Given the description of an element on the screen output the (x, y) to click on. 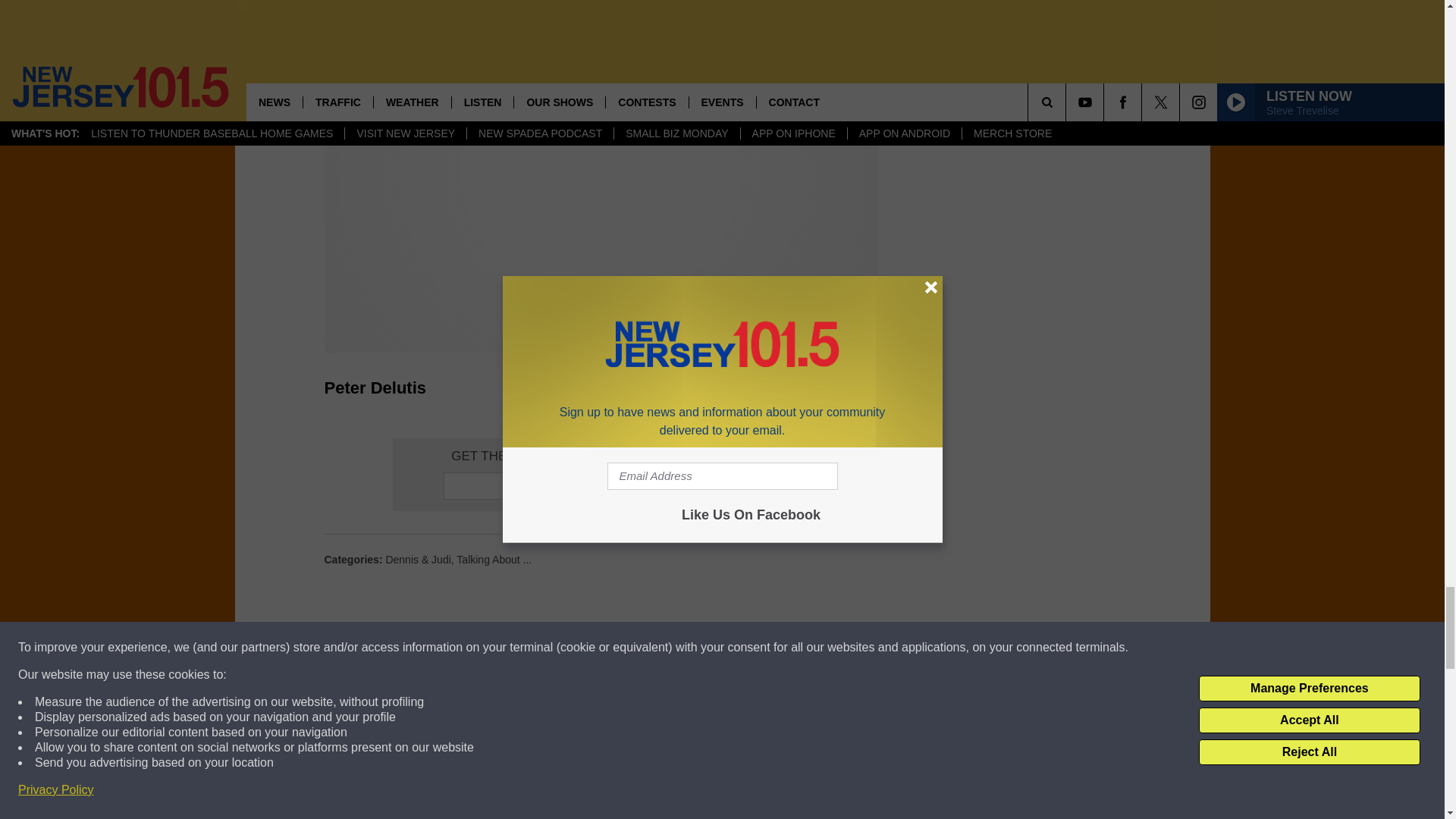
Email Address (600, 485)
